Given the description of an element on the screen output the (x, y) to click on. 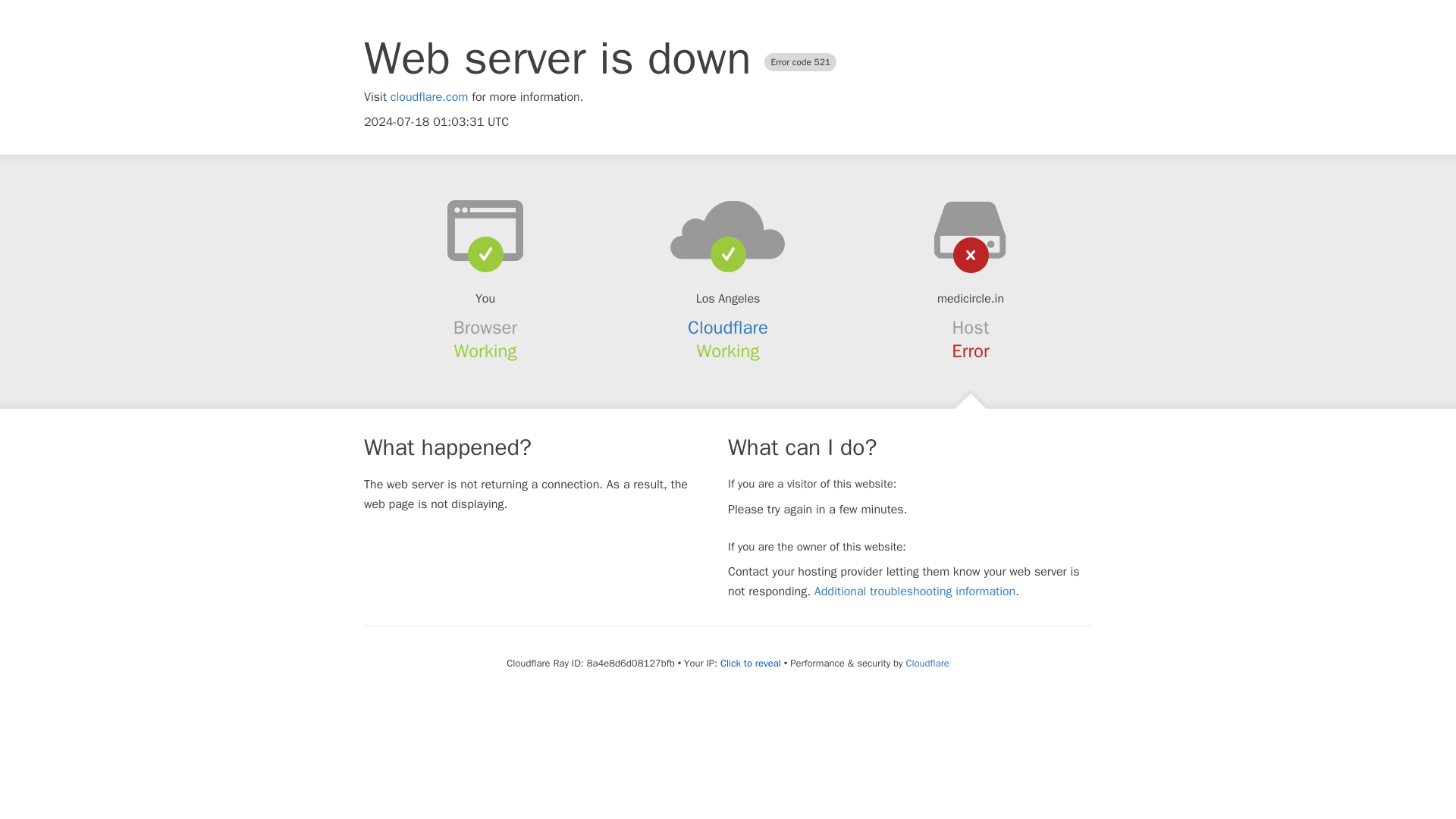
Click to reveal (750, 663)
Cloudflare (727, 327)
Cloudflare (927, 662)
Additional troubleshooting information (913, 590)
cloudflare.com (429, 96)
